Given the description of an element on the screen output the (x, y) to click on. 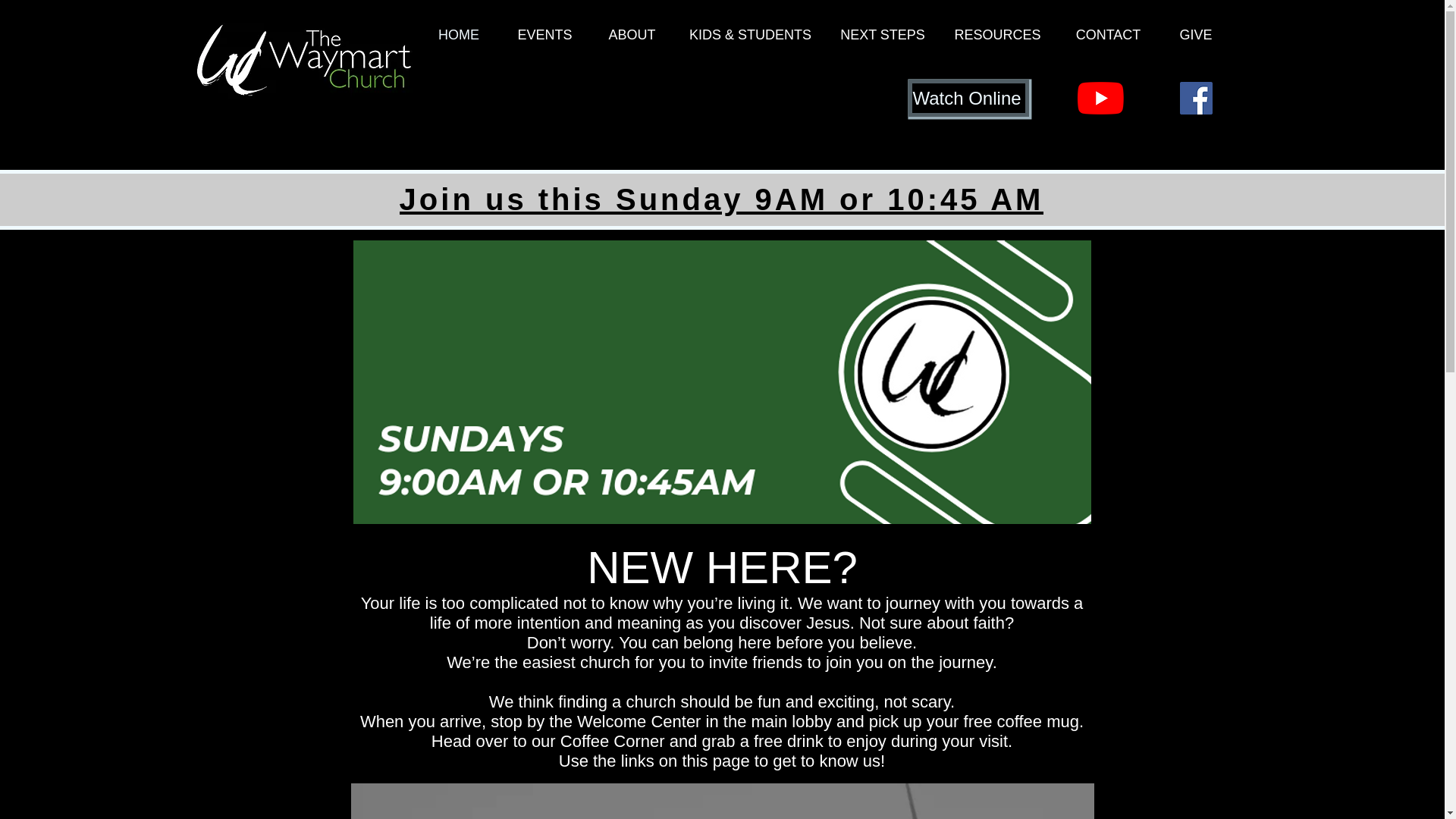
NEXT STEPS (883, 39)
ABOUT (632, 39)
HOME (457, 39)
Watch Online (968, 98)
GIVE (1195, 39)
CONTACT (1107, 39)
